Given the description of an element on the screen output the (x, y) to click on. 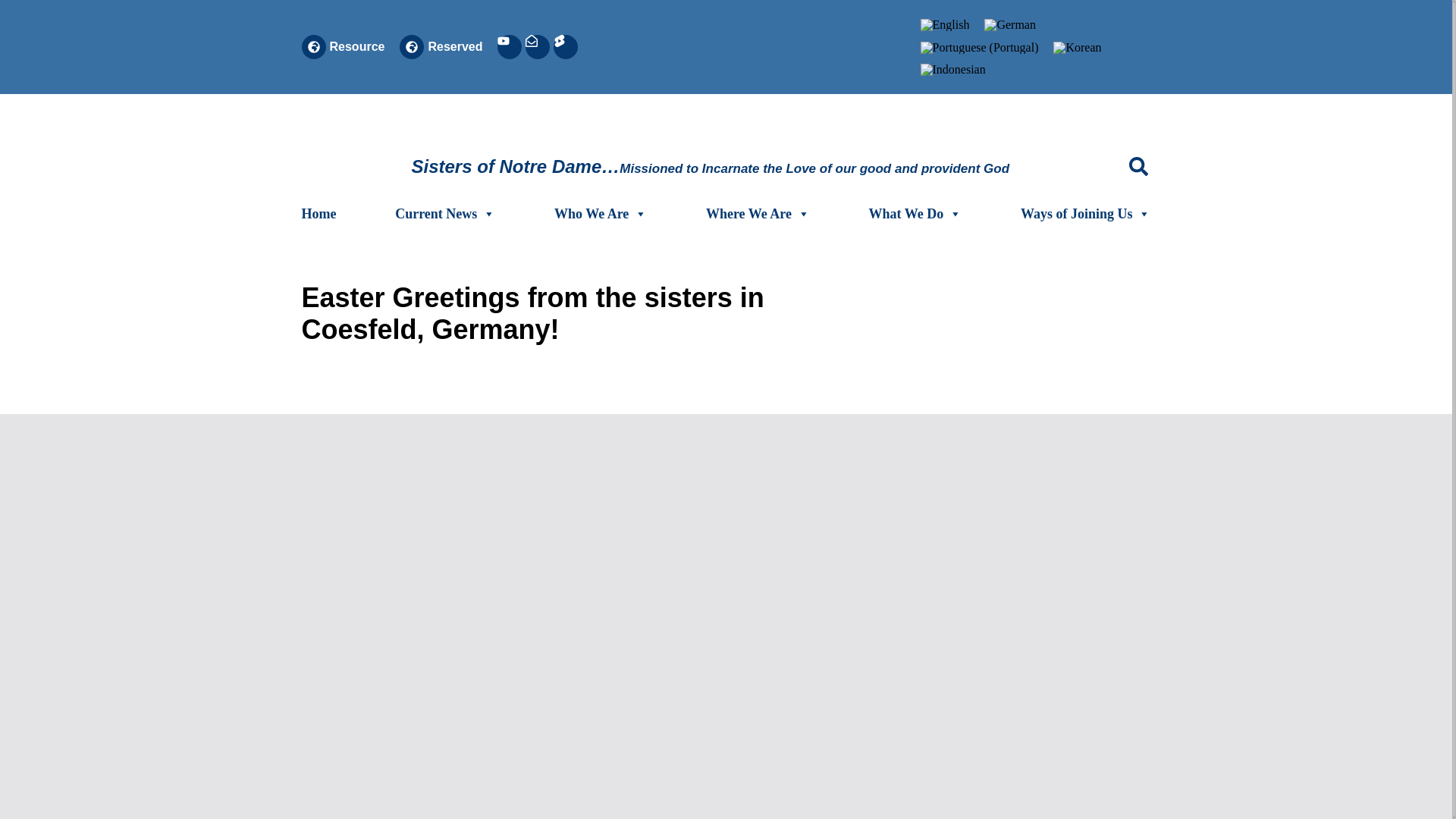
search-button (1138, 166)
Current News (444, 214)
Where We Are (757, 214)
Who We Are (600, 214)
Home (318, 214)
Resource (356, 46)
Reserved (454, 46)
